Given the description of an element on the screen output the (x, y) to click on. 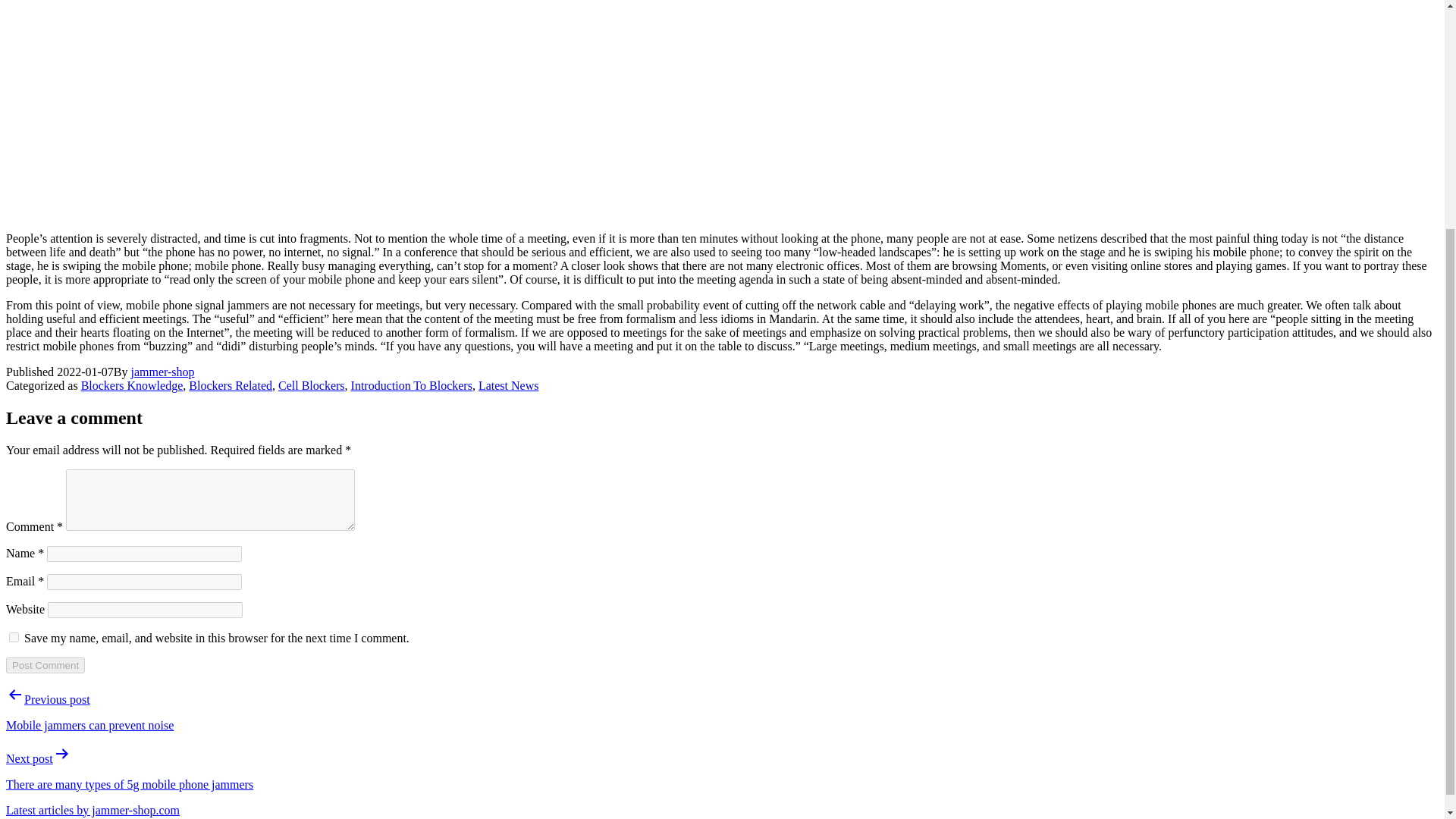
Latest News (508, 385)
Latest articles by jammer-shop.com (92, 809)
jammer-shop (162, 371)
yes (13, 637)
Post Comment (44, 665)
Post Comment (44, 665)
Cell Blockers (311, 385)
Blockers Related (230, 385)
Introduction To Blockers (410, 385)
Blockers Knowledge (132, 385)
